Given the description of an element on the screen output the (x, y) to click on. 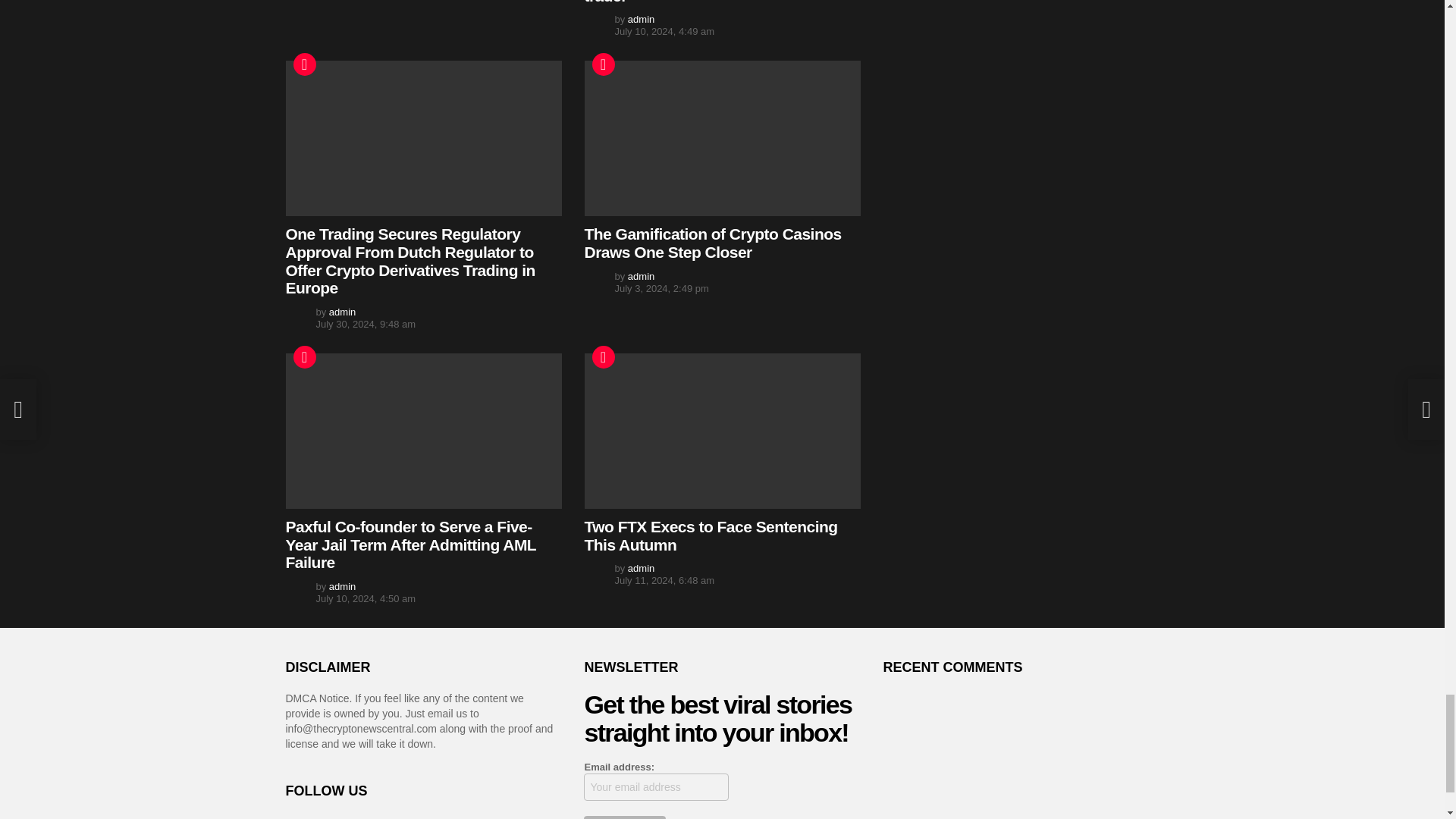
Sign up (624, 817)
